Given the description of an element on the screen output the (x, y) to click on. 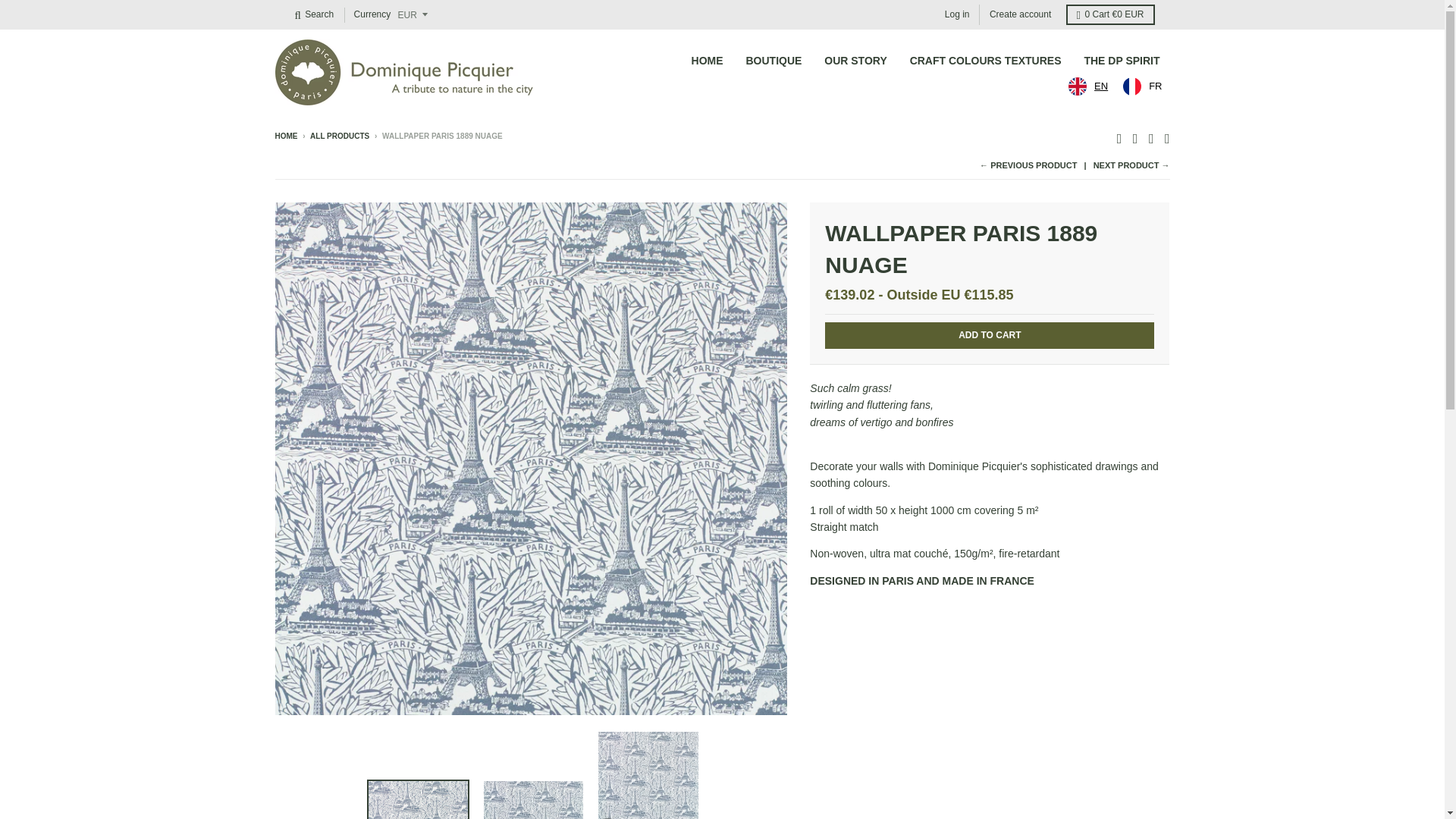
Back to the frontpage (286, 135)
ADD TO CART (989, 335)
OUR STORY (854, 60)
Log in (957, 14)
EN (1088, 85)
FR (1142, 85)
HOME (286, 135)
THE DP SPIRIT (1121, 60)
Create account (1020, 14)
CRAFT COLOURS TEXTURES (985, 60)
